Given the description of an element on the screen output the (x, y) to click on. 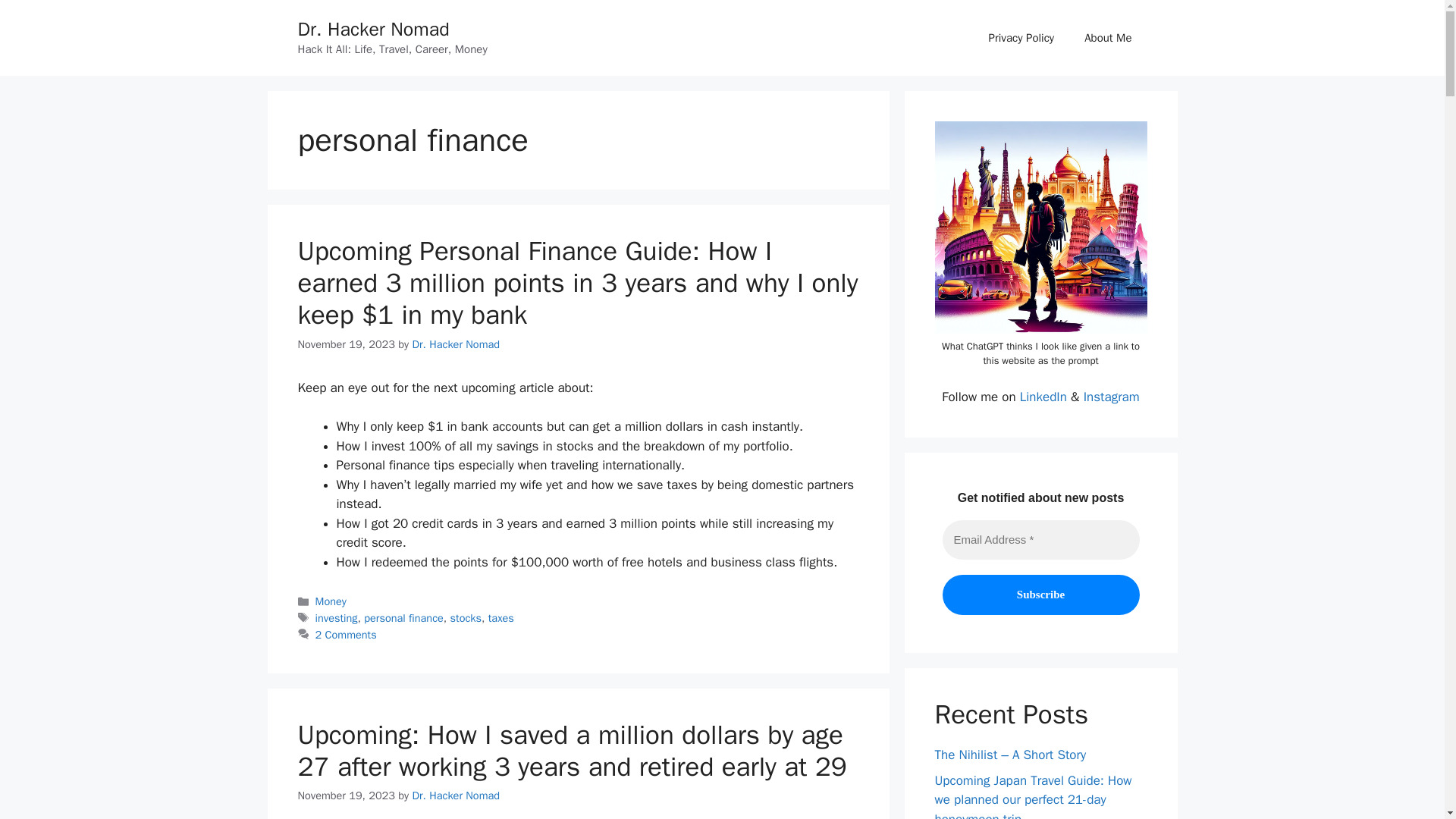
Dr. Hacker Nomad (455, 795)
personal finance (404, 617)
Dr. Hacker Nomad (372, 28)
taxes (500, 617)
About Me (1107, 37)
2 Comments (346, 634)
View all posts by Dr. Hacker Nomad (455, 344)
Privacy Policy (1022, 37)
Money (330, 601)
